Given the description of an element on the screen output the (x, y) to click on. 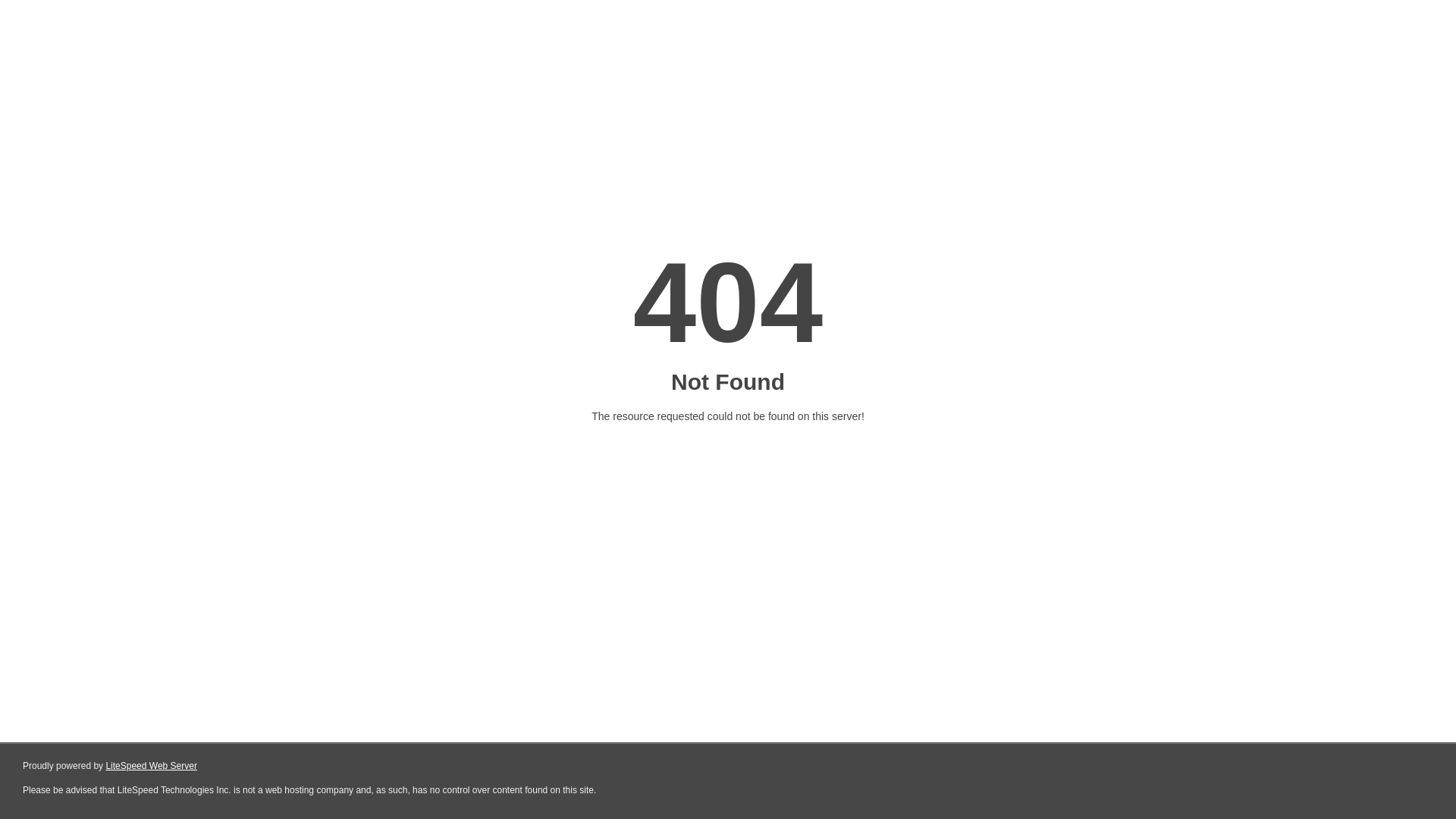
LiteSpeed Web Server Element type: text (151, 765)
